Given the description of an element on the screen output the (x, y) to click on. 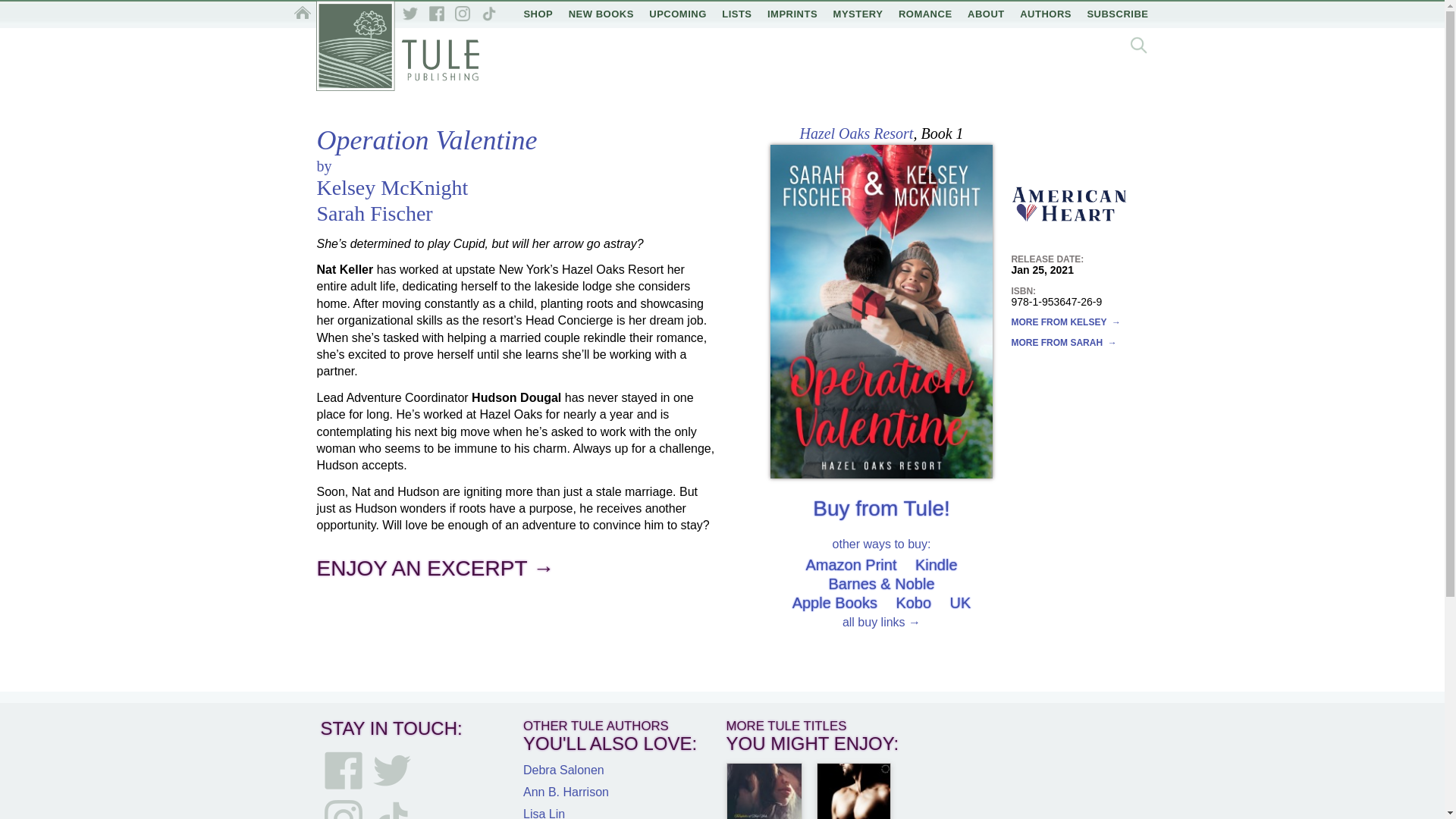
Amazon Print (850, 564)
Twitter (391, 770)
TikTok (488, 13)
Buy from Tule! (881, 508)
SUBSCRIBE (1117, 13)
UK (960, 602)
ABOUT (985, 13)
SHOP (537, 13)
MYSTERY (858, 13)
UPCOMING (678, 13)
